Given the description of an element on the screen output the (x, y) to click on. 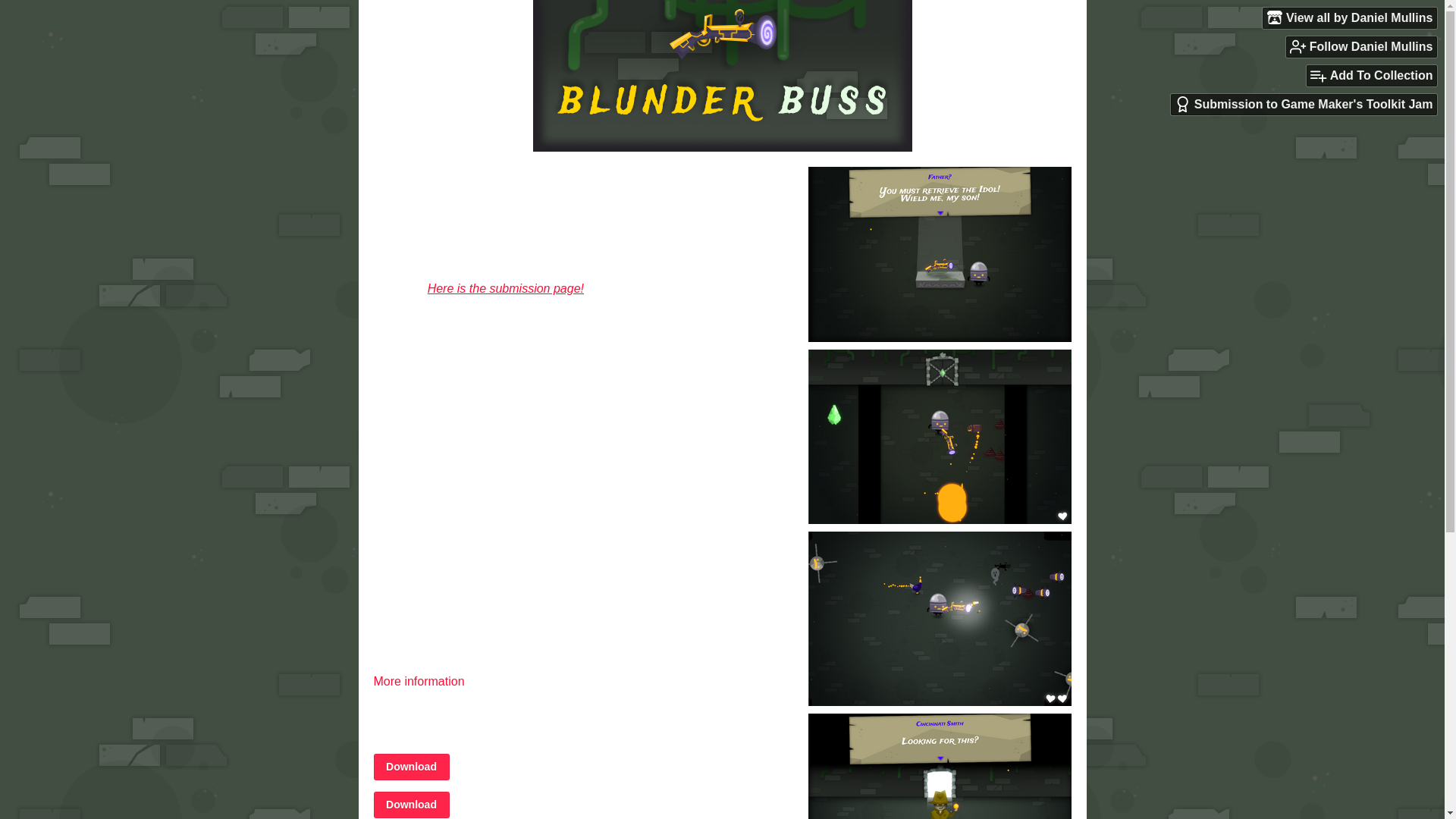
More information (424, 680)
Submission to Game Maker's Toolkit Jam (1303, 104)
Here is the submission page! (505, 287)
Download (410, 804)
Follow Daniel Mullins (1361, 46)
Add To Collection (1371, 75)
View all by Daniel Mullins (1349, 17)
Download (410, 766)
